Given the description of an element on the screen output the (x, y) to click on. 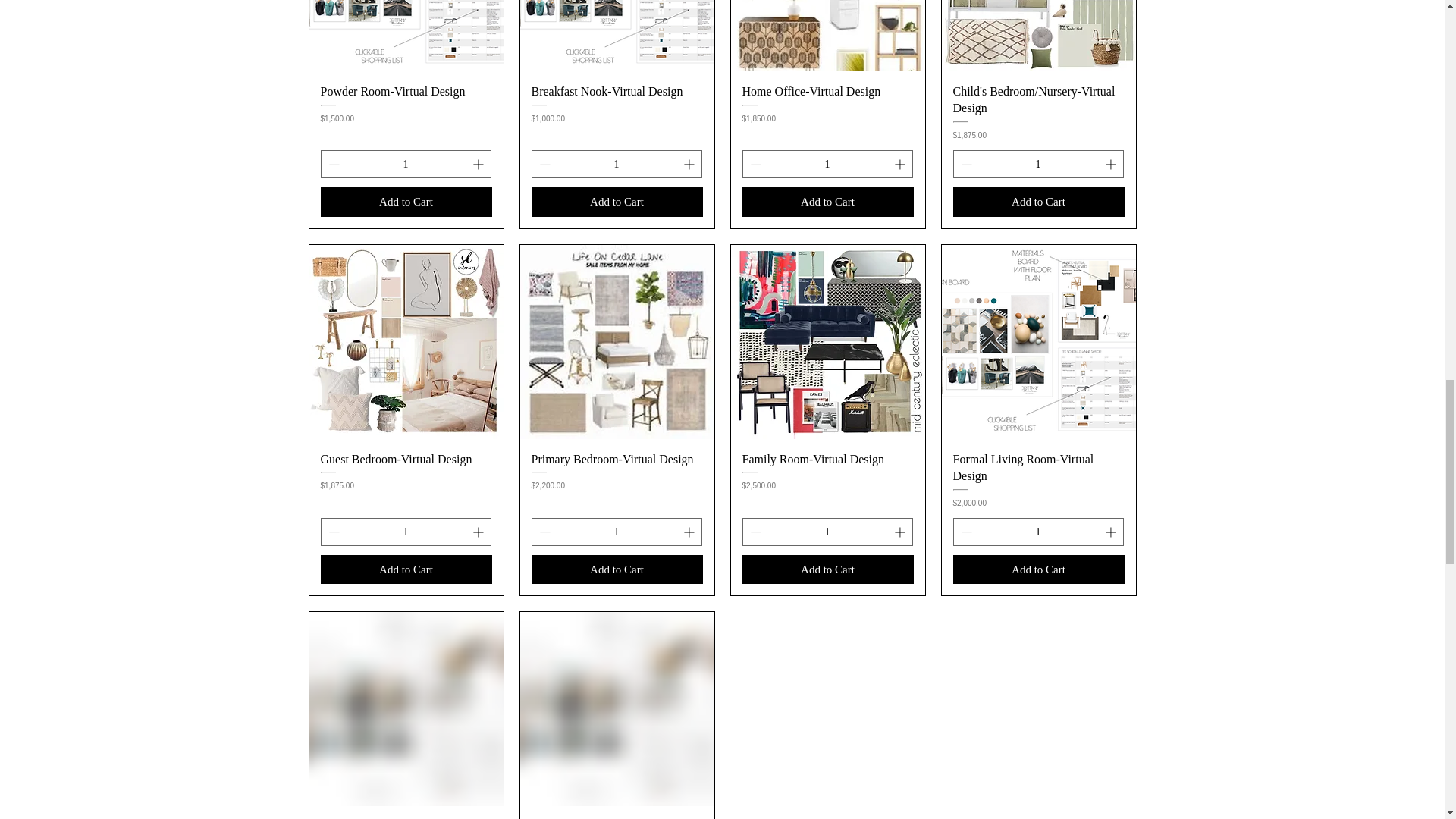
1 (404, 531)
1 (1038, 531)
1 (826, 164)
1 (826, 531)
1 (615, 164)
1 (404, 164)
1 (1038, 164)
1 (615, 531)
